Given the description of an element on the screen output the (x, y) to click on. 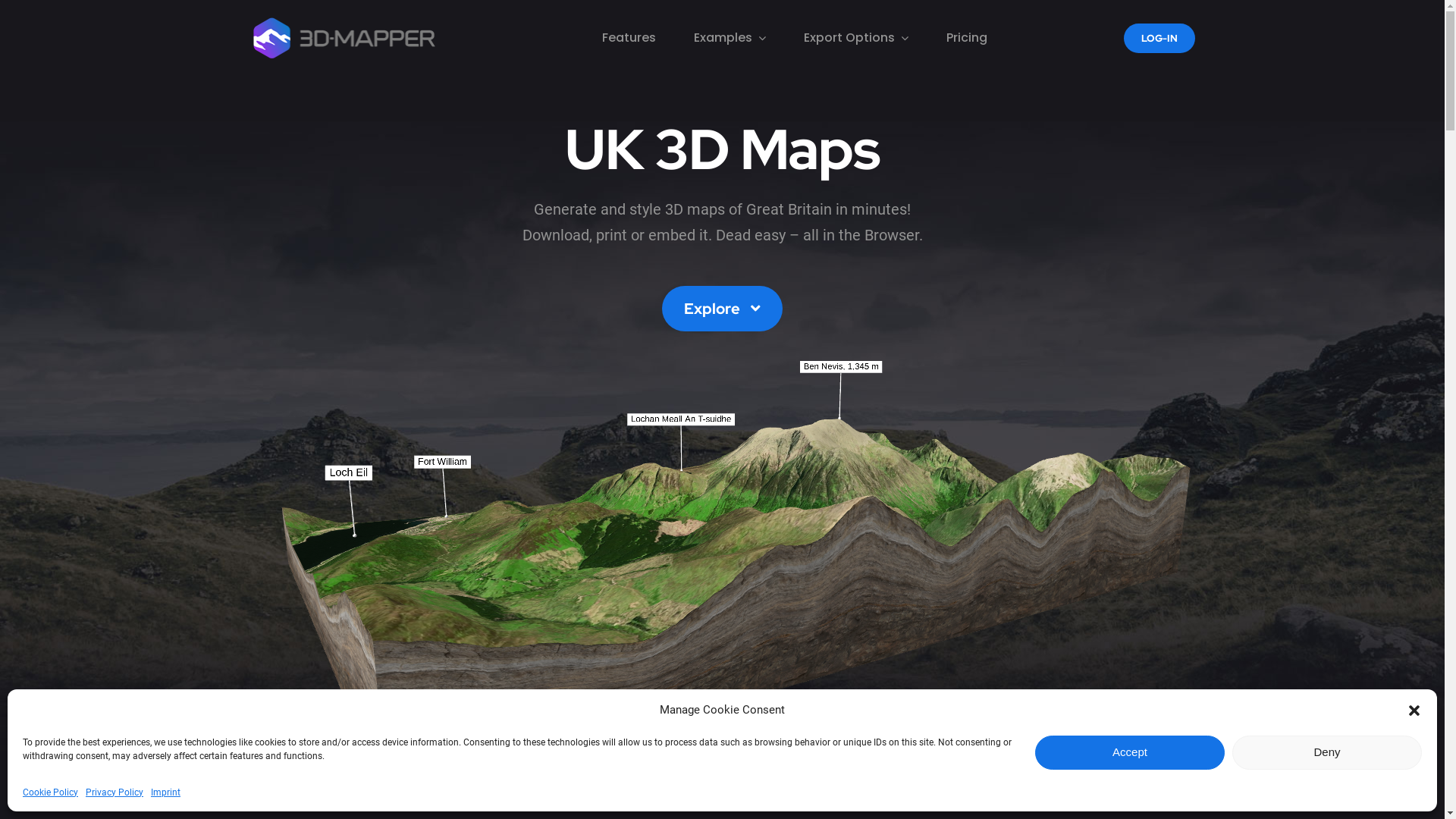
Cookie Policy Element type: text (50, 792)
Imprint Element type: text (165, 792)
Export Options Element type: text (855, 37)
Deny Element type: text (1326, 752)
Examples Element type: text (729, 37)
Explore Element type: text (722, 308)
Accept Element type: text (1129, 752)
Privacy Policy Element type: text (114, 792)
Features Element type: text (628, 37)
LOG-IN Element type: text (1159, 38)
Pricing Element type: text (966, 37)
